Given the description of an element on the screen output the (x, y) to click on. 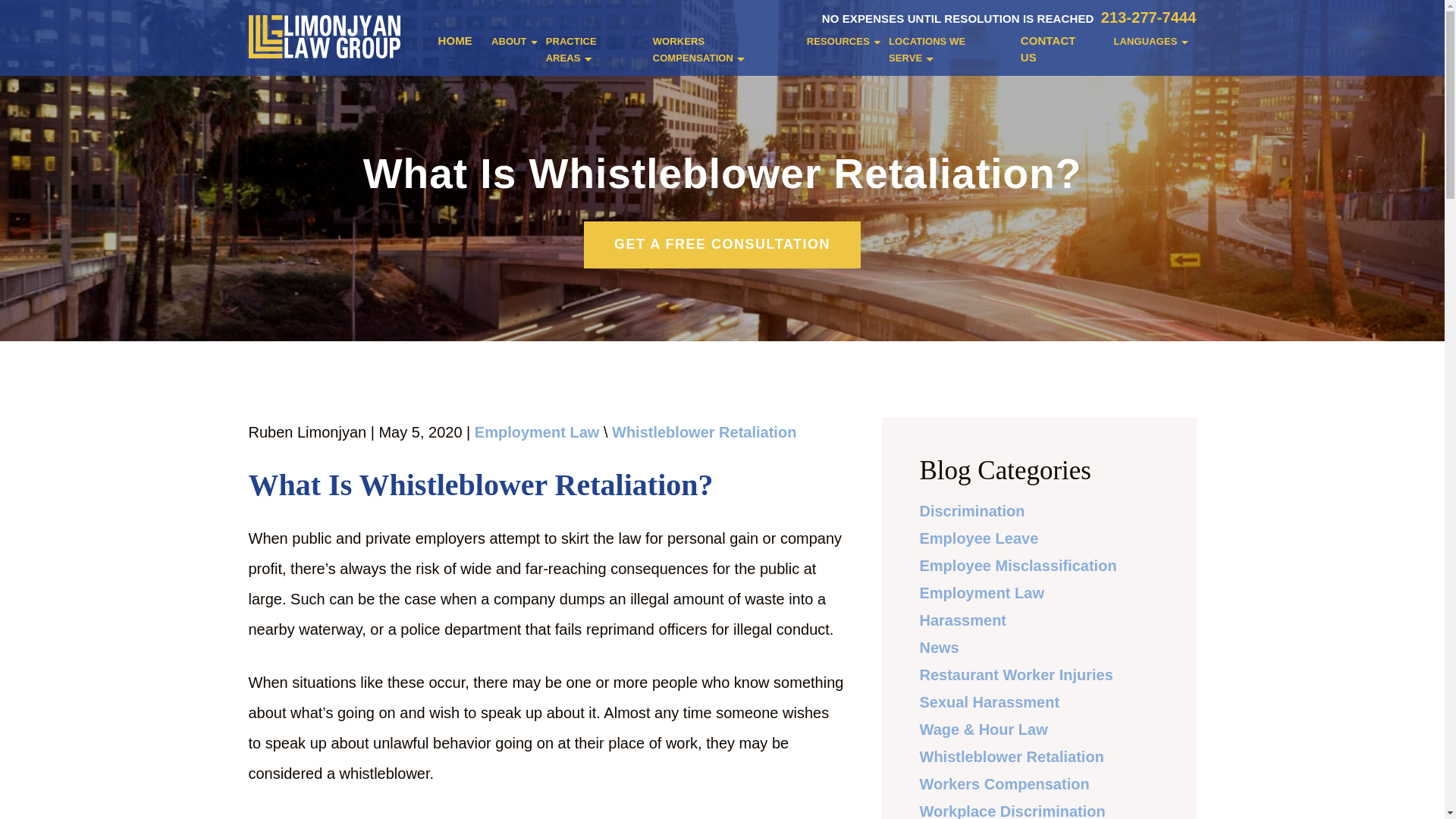
LOCATIONS WE SERVE (944, 50)
HOME (454, 50)
GET A FREE CONSULTATION (721, 244)
RESOURCES (837, 50)
WORKERS COMPENSATION (719, 50)
ABOUT (509, 50)
213-277-7444 (1148, 16)
limonjyan-logo-yellow-white (324, 36)
PRACTICE AREAS (589, 50)
